Given the description of an element on the screen output the (x, y) to click on. 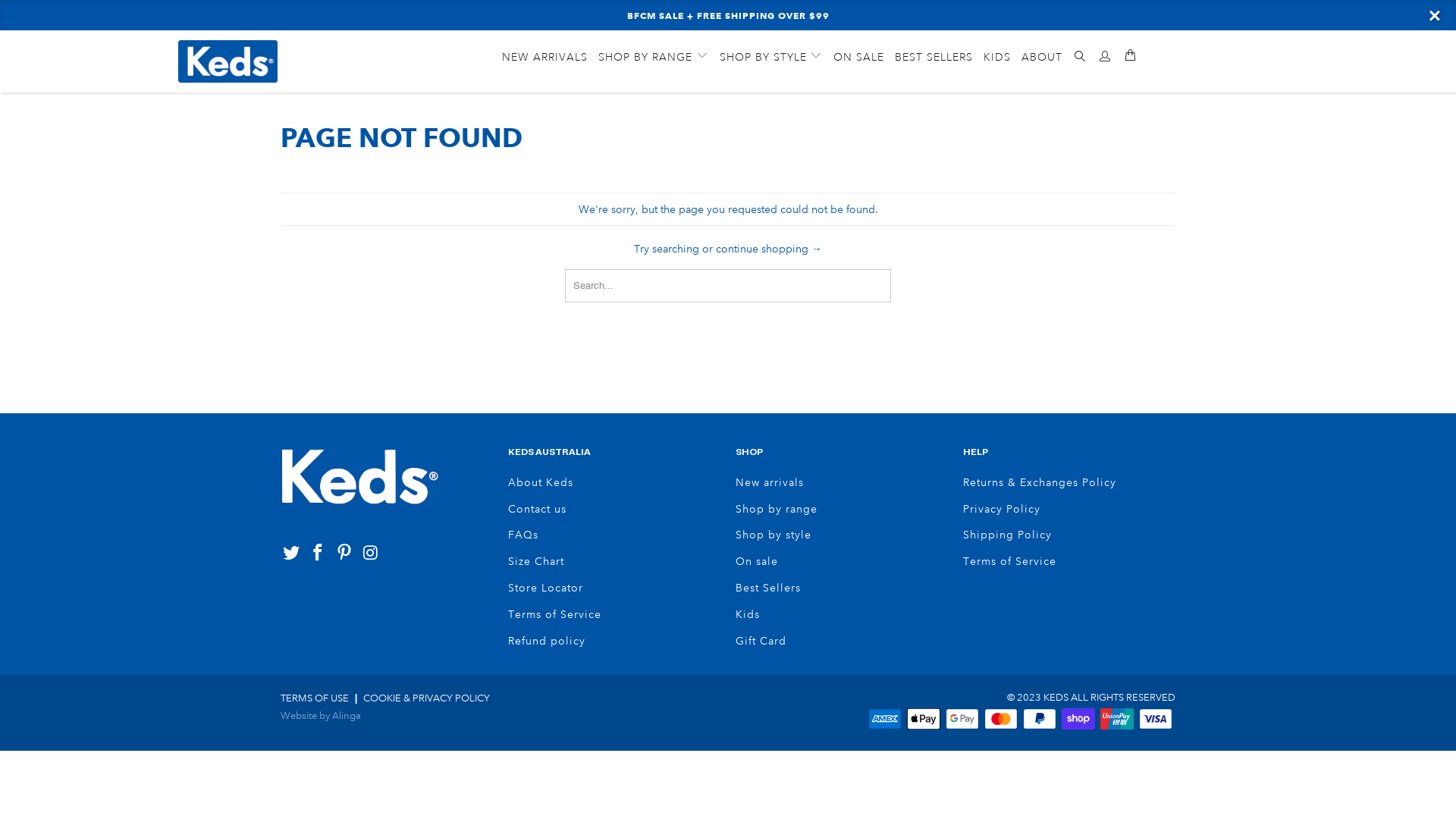
Terms of Service Element type: text (1009, 560)
New arrivals Element type: text (769, 482)
Contact us Element type: text (537, 508)
Search Element type: hover (1080, 57)
ABOUT Element type: text (1041, 57)
Refund policy Element type: text (546, 640)
FAQs Element type: text (523, 534)
Returns & Exchanges Policy Element type: text (1039, 482)
Keds Australia on Twitter Element type: hover (291, 553)
Keds Australia Element type: hover (260, 61)
My Account  Element type: hover (1105, 56)
SHOP BY STYLE Element type: text (770, 56)
SHOP BY RANGE Element type: text (653, 56)
Privacy Policy Element type: text (1001, 508)
BEST SELLERS Element type: text (933, 57)
Keds Australia on Facebook Element type: hover (318, 553)
ON SALE Element type: text (858, 57)
Shop by style Element type: text (773, 534)
About Keds Element type: text (540, 482)
KIDS Element type: text (996, 57)
On sale Element type: text (756, 560)
Terms of Service Element type: text (554, 614)
Size Chart Element type: text (536, 560)
Kids Element type: text (747, 614)
Gift Card Element type: text (760, 640)
Keds Australia on Pinterest Element type: hover (343, 553)
Shop by range Element type: text (776, 508)
Store Locator Element type: text (545, 587)
NEW ARRIVALS Element type: text (544, 57)
Shipping Policy Element type: text (1007, 534)
Best Sellers Element type: text (767, 587)
Website by Alinga Element type: text (320, 715)
Keds Australia on Instagram Element type: hover (370, 553)
COOKIE & PRIVACY POLICY Element type: text (426, 698)
TERMS OF USE Element type: text (314, 698)
